Given the description of an element on the screen output the (x, y) to click on. 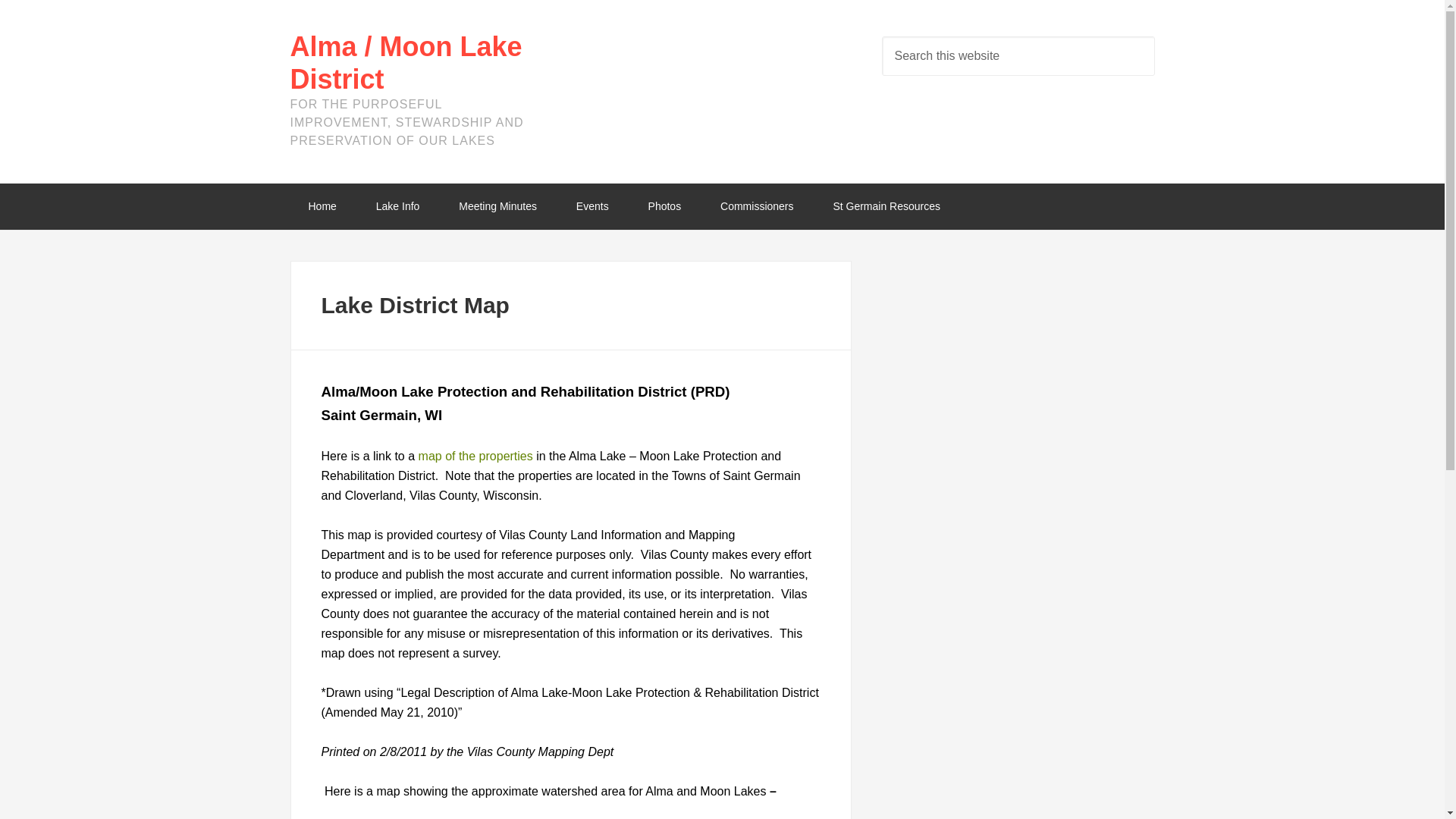
Welcome Visitors (321, 206)
map of the properties (475, 455)
Photos (665, 206)
NOVA Report (398, 206)
Misc Local Information (885, 206)
District Meeting Minutes (497, 206)
Upcoming Events (592, 206)
Events (592, 206)
